Given the description of an element on the screen output the (x, y) to click on. 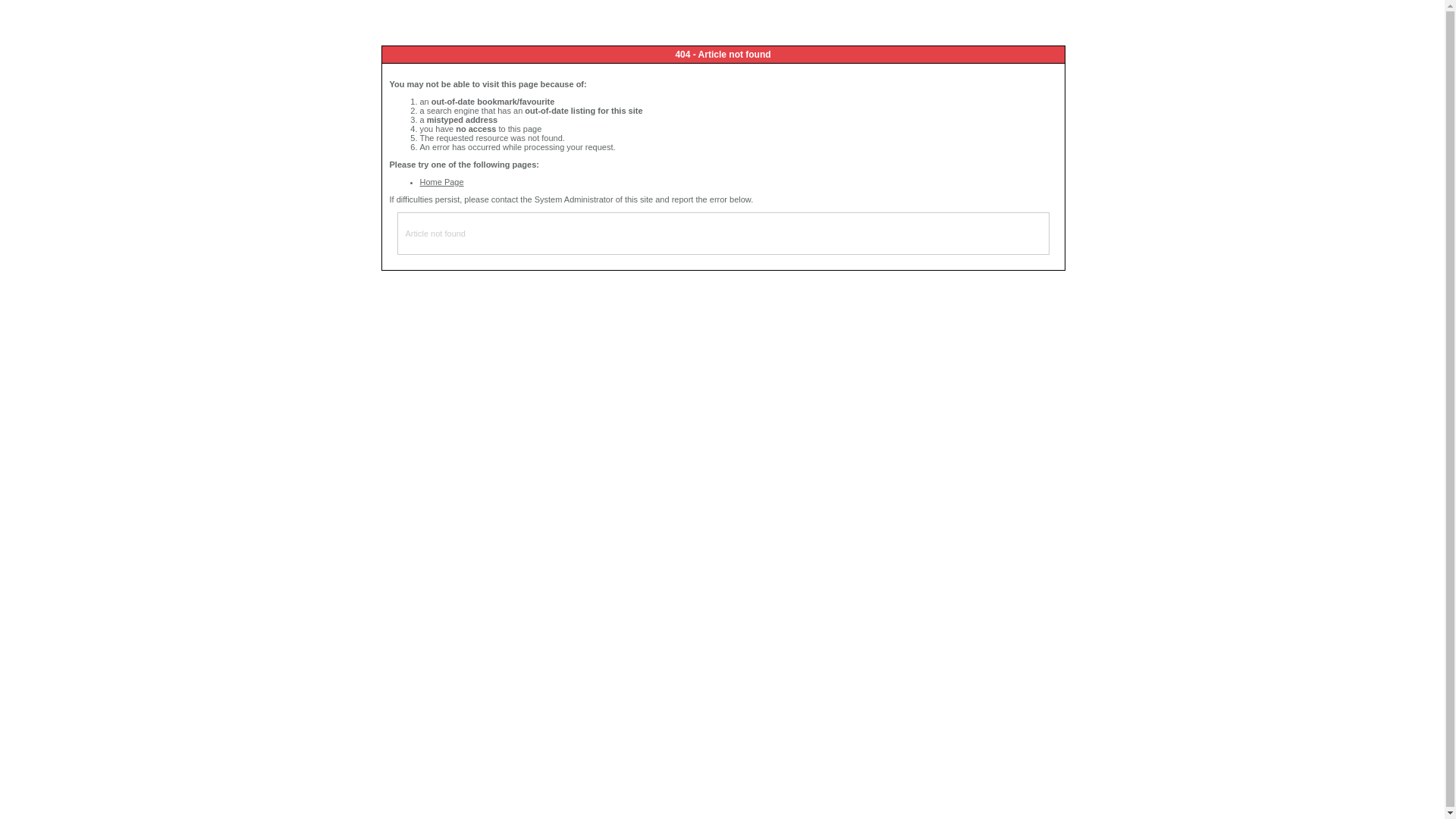
Home Page Element type: text (442, 181)
